Given the description of an element on the screen output the (x, y) to click on. 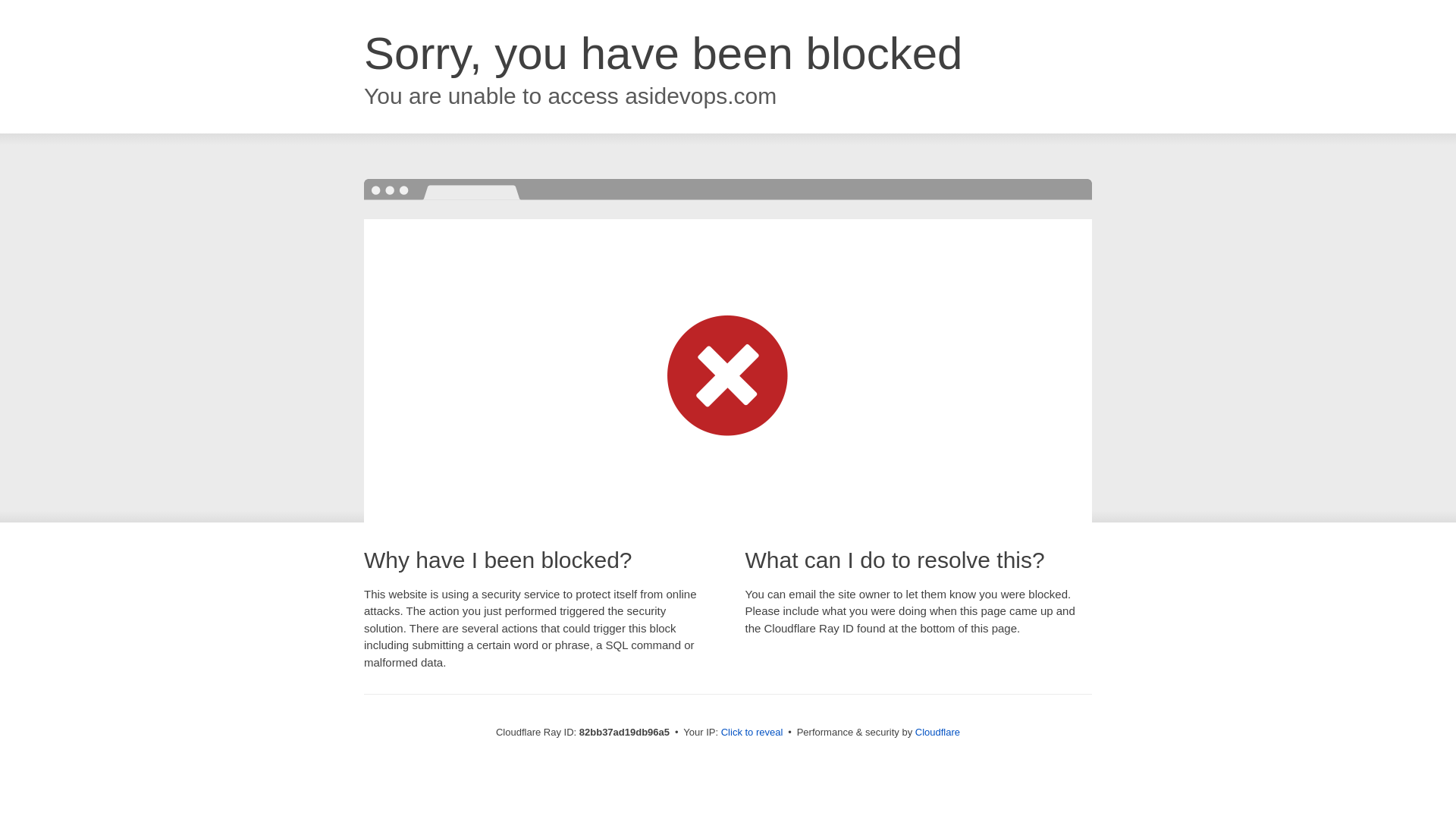
Cloudflare Element type: text (937, 731)
Click to reveal Element type: text (752, 732)
